Given the description of an element on the screen output the (x, y) to click on. 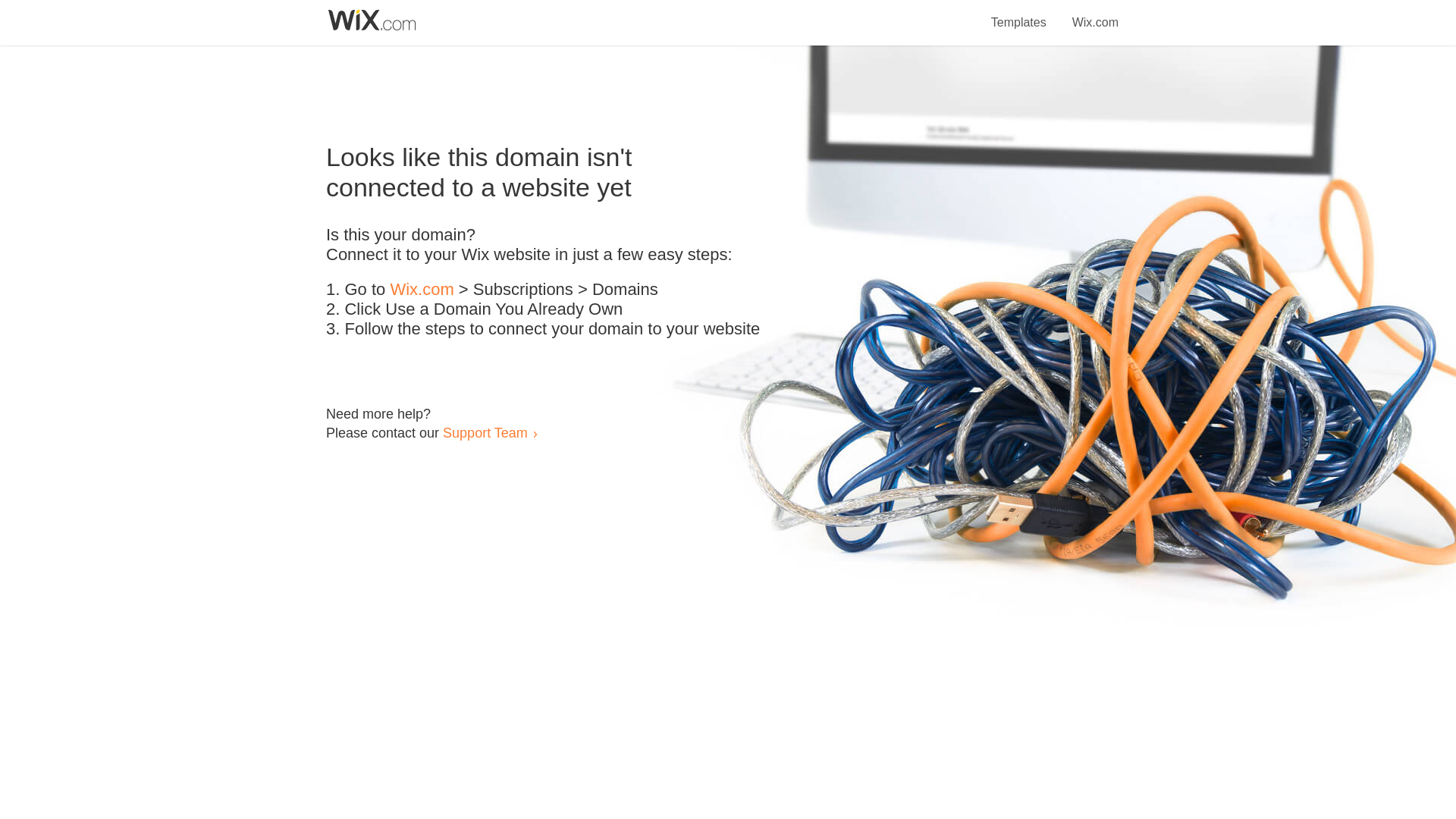
Templates (1018, 14)
Support Team (484, 432)
Wix.com (1095, 14)
Wix.com (421, 289)
